Given the description of an element on the screen output the (x, y) to click on. 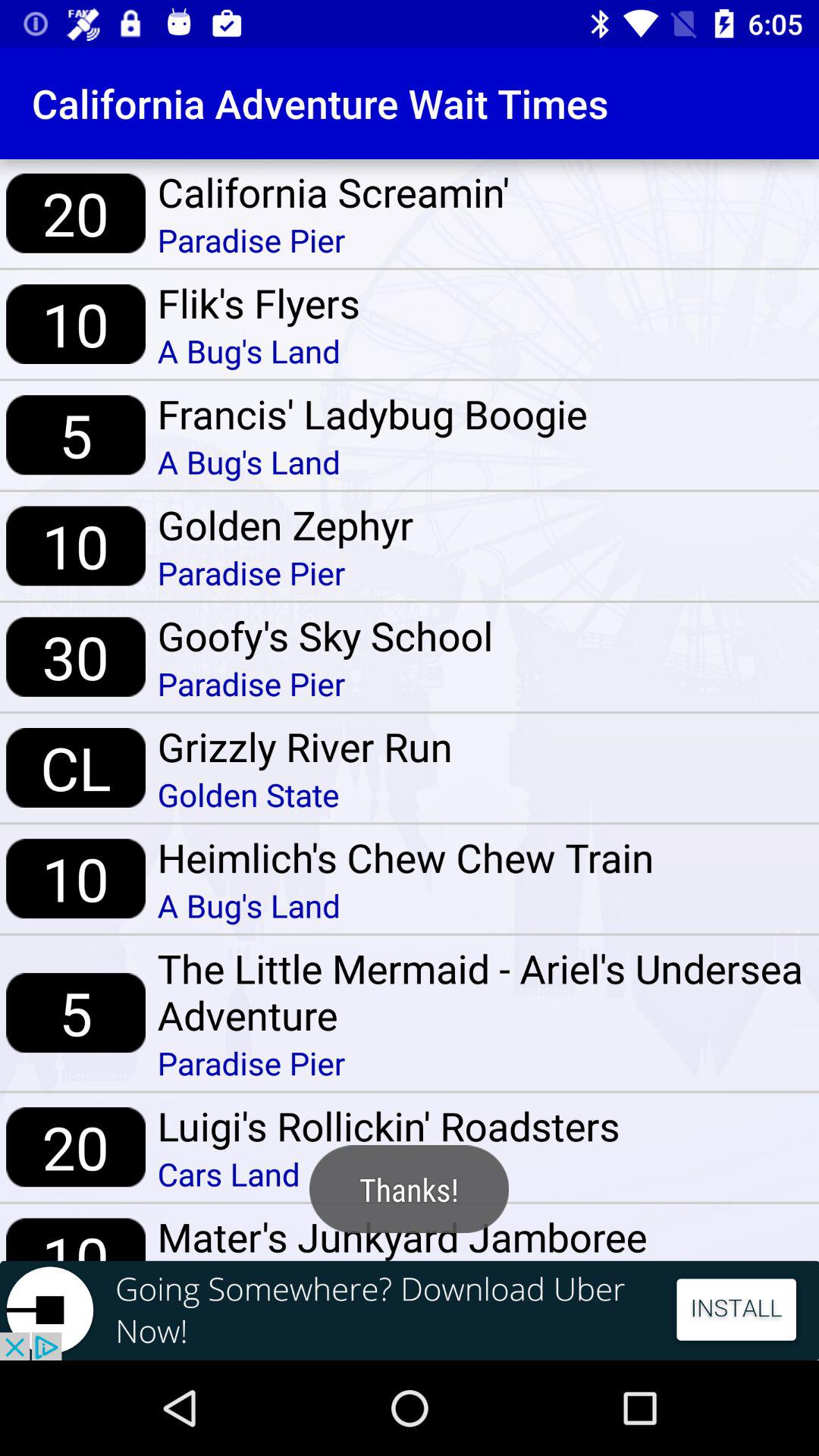
press item to the right of the 20 item (388, 1173)
